Given the description of an element on the screen output the (x, y) to click on. 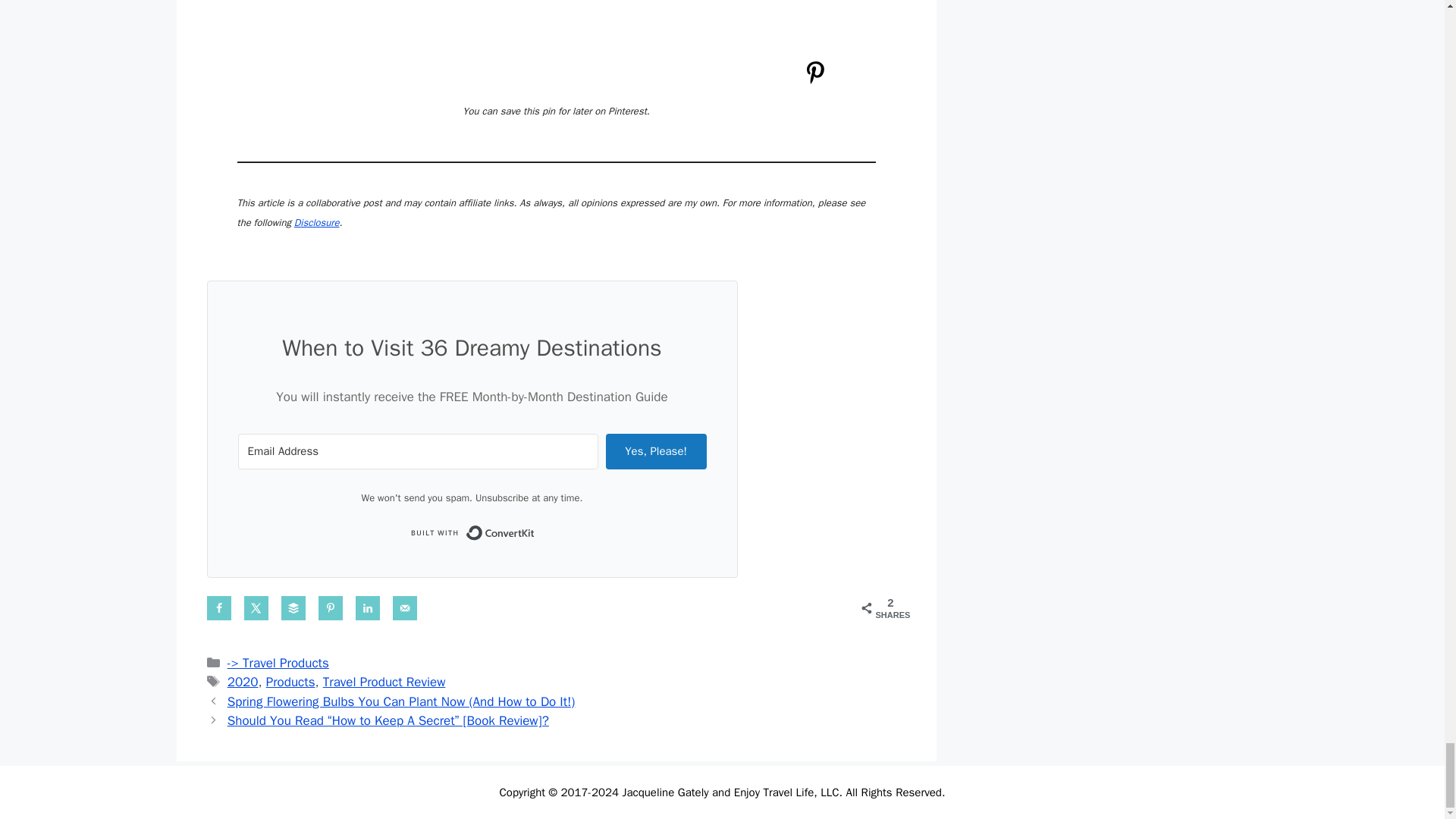
Save to Pinterest (330, 607)
Share on LinkedIn (367, 607)
Share on Buffer (293, 607)
Share on Facebook (218, 607)
Send over email (404, 607)
Share on X (255, 607)
